Given the description of an element on the screen output the (x, y) to click on. 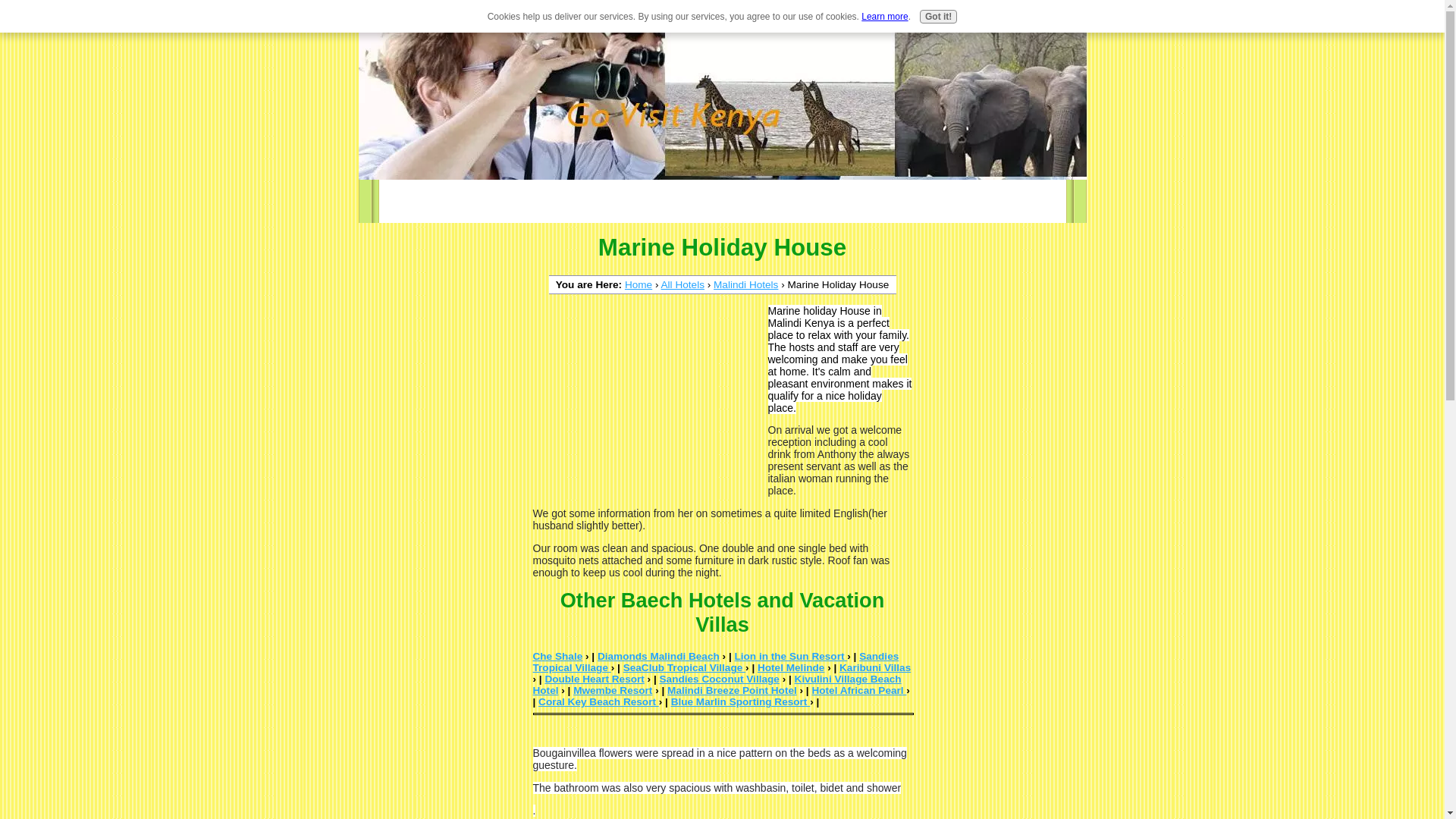
Double Heart Resort (593, 678)
Mwembe Resort (612, 690)
Home (638, 284)
Blue Marlin Sporting Resort (740, 701)
Hotel African Pearl (857, 690)
Learn more (884, 16)
Advertisement (646, 398)
Got it! (938, 16)
All Hotels (682, 284)
Sandies Tropical Village (715, 661)
